Given the description of an element on the screen output the (x, y) to click on. 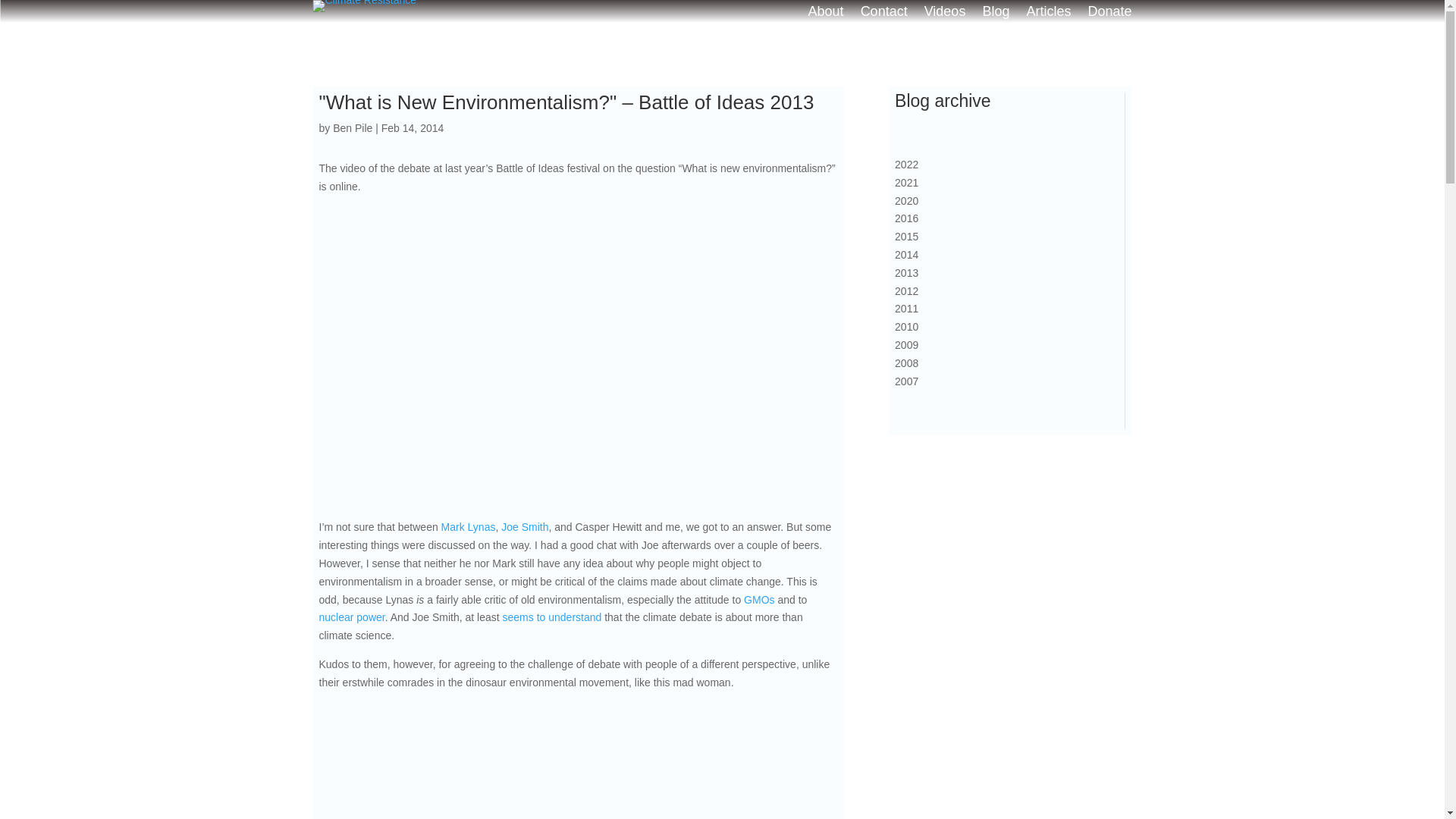
Contact (883, 13)
2022 (998, 165)
Joe Smith (524, 526)
2020 (998, 209)
Videos (945, 13)
nuclear power (351, 616)
Ben Pile (352, 128)
Posts by Ben Pile (352, 128)
2021 (998, 191)
crLogoText (364, 6)
GMOs (759, 599)
Donate (1109, 13)
Mark Lynas (468, 526)
Articles (1048, 13)
Blog (995, 13)
